Given the description of an element on the screen output the (x, y) to click on. 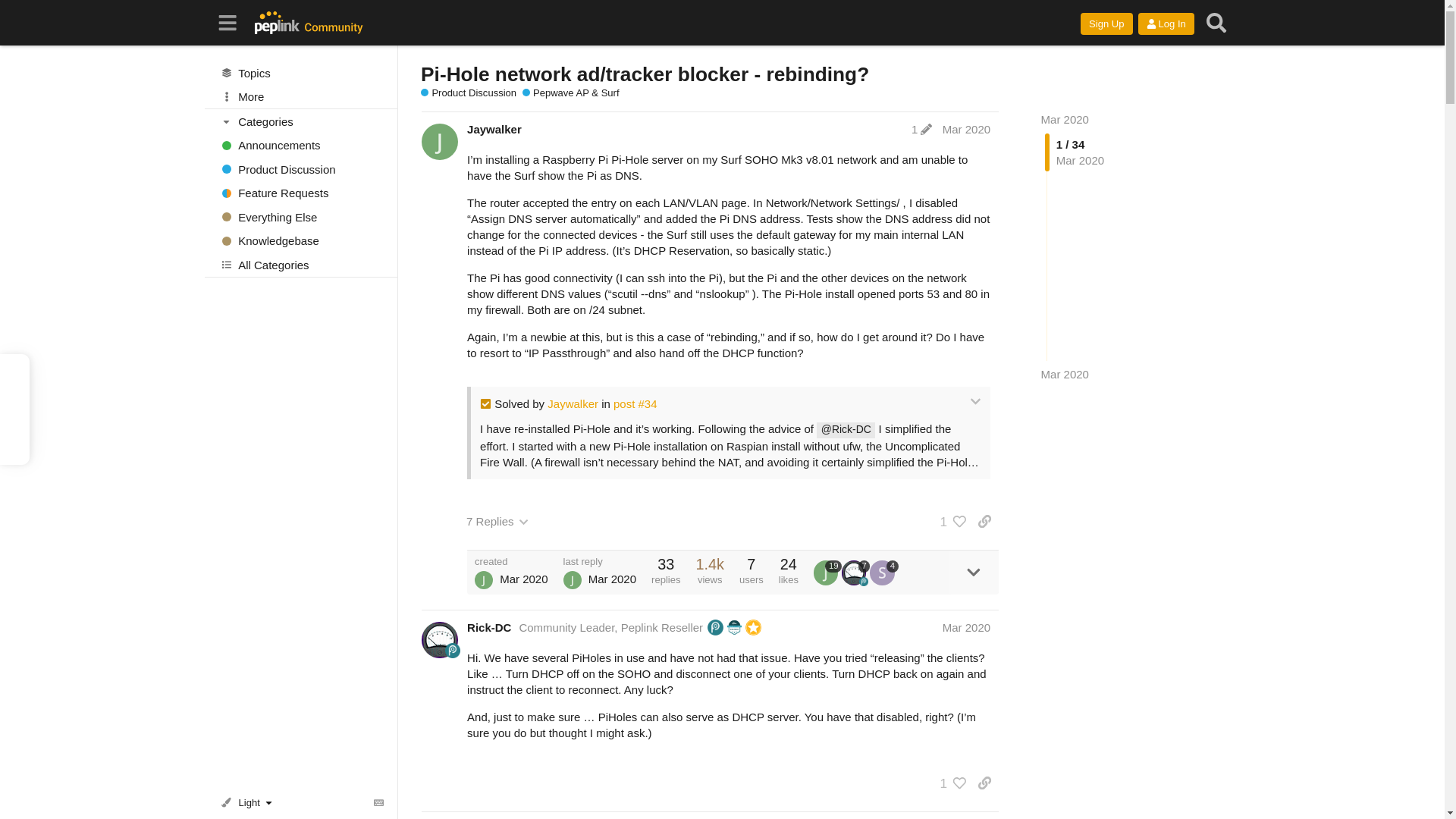
Topics (301, 72)
1 (921, 128)
Feature Requests (301, 192)
Log In (1165, 24)
All Topics (301, 72)
Mar 2020 (966, 128)
Everything Else (301, 216)
Knowledgebase (301, 241)
Light (249, 802)
Catch exciting news that we have to share with you. (301, 145)
1 (949, 521)
Mar 2020 (1065, 119)
Sign Up (1106, 24)
Mar 2020 (1065, 374)
